Given the description of an element on the screen output the (x, y) to click on. 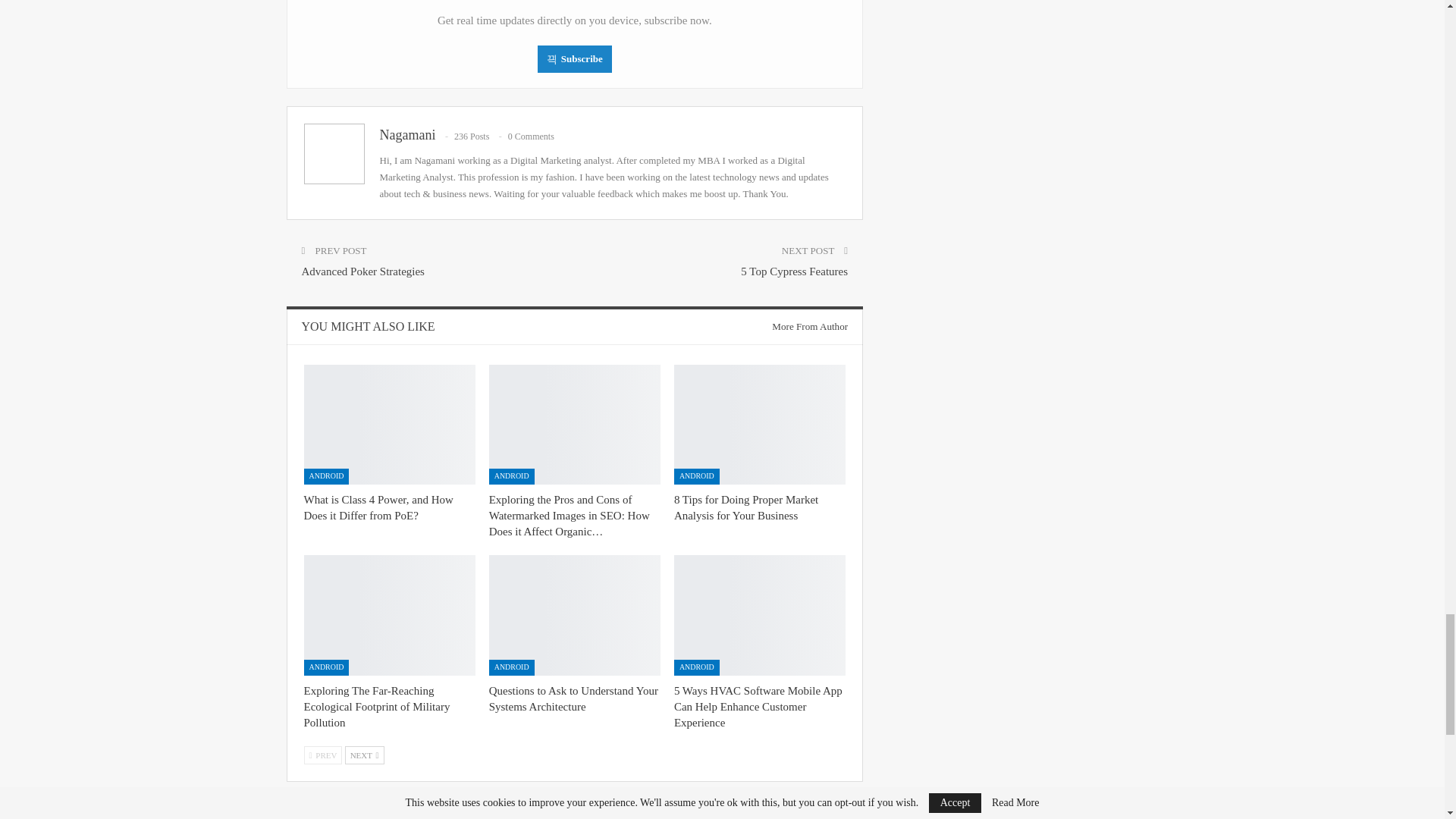
What is Class 4 Power, and How Does it Differ from PoE? (377, 507)
What is Class 4 Power, and How Does it Differ from PoE? (388, 424)
